Given the description of an element on the screen output the (x, y) to click on. 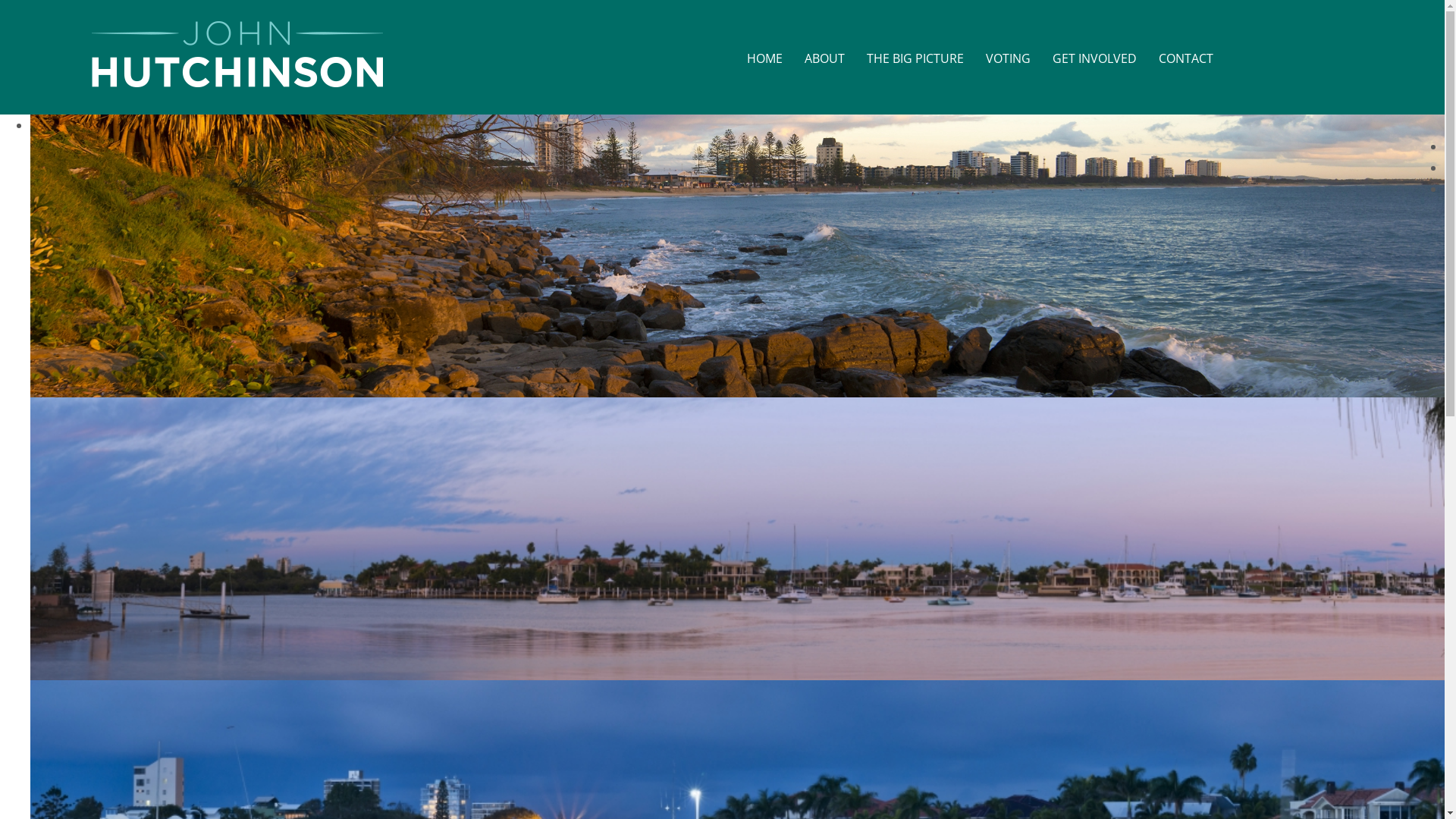
VOTING Element type: text (1007, 59)
THE BIG PICTURE Element type: text (914, 59)
HOME Element type: text (764, 59)
GET INVOLVED Element type: text (1094, 59)
John Hutchinson Element type: hover (237, 54)
CONTACT Element type: text (1185, 59)
ABOUT Element type: text (824, 59)
